Given the description of an element on the screen output the (x, y) to click on. 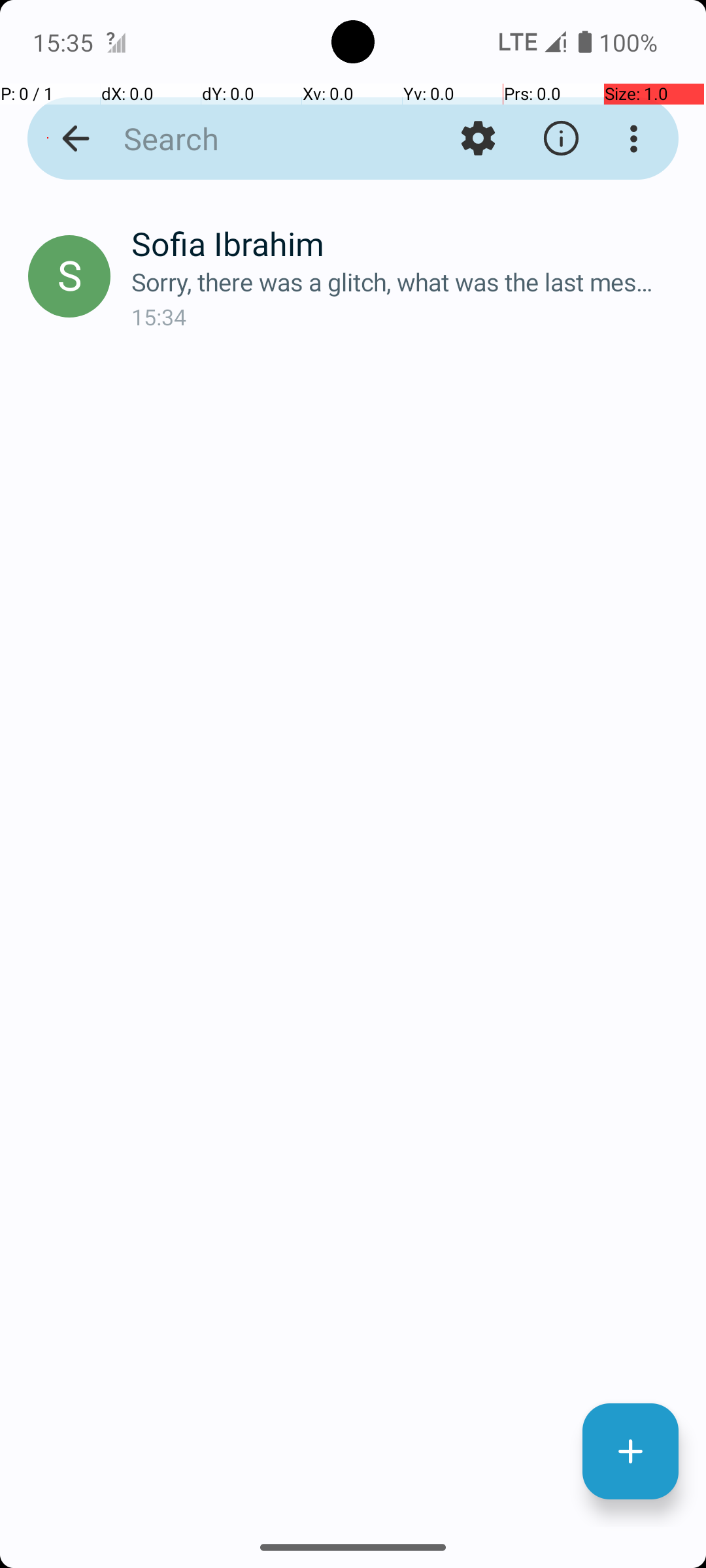
Sofia Ibrahim Element type: android.widget.TextView (408, 242)
